Given the description of an element on the screen output the (x, y) to click on. 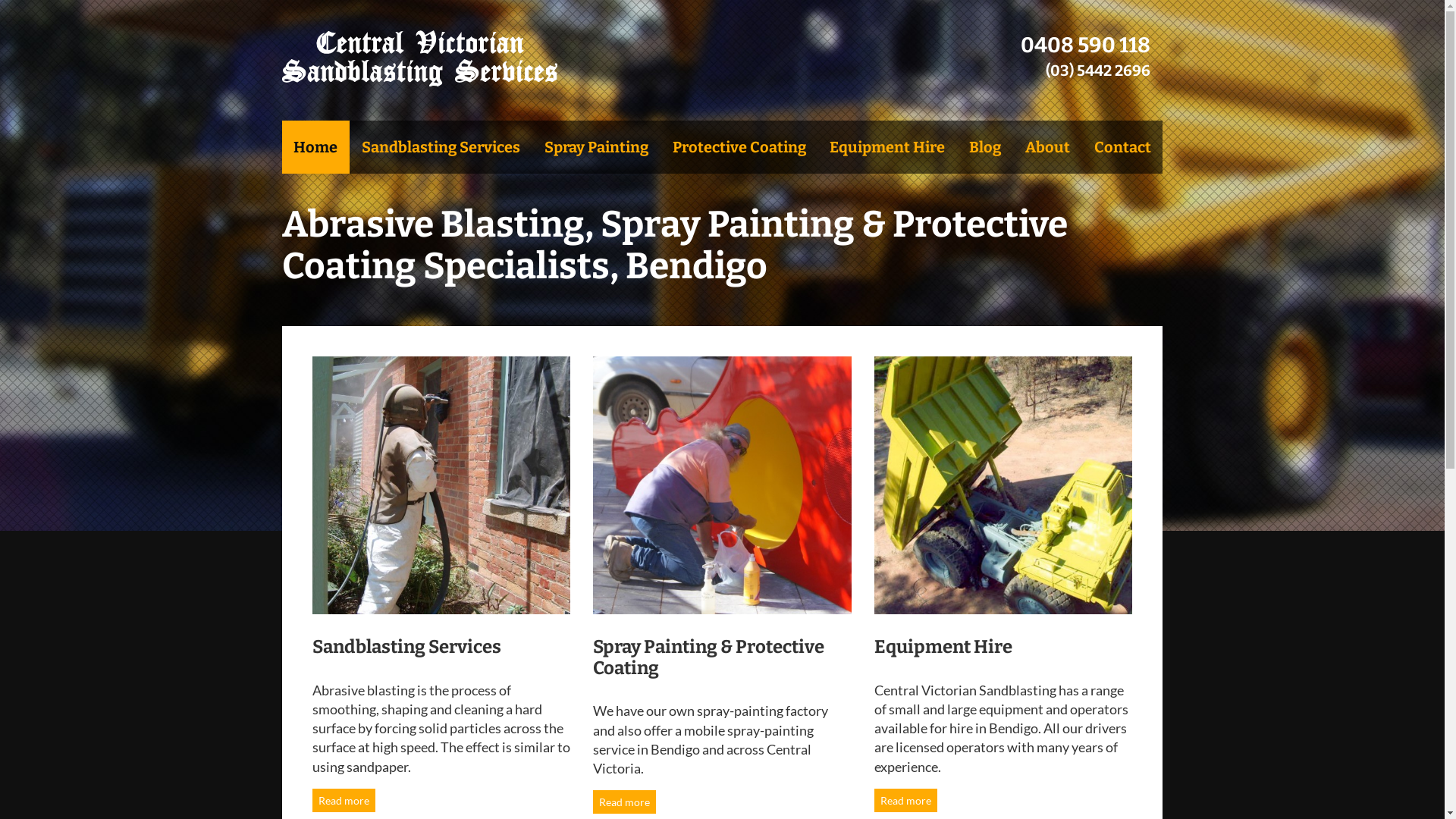
Protective Coating Element type: text (739, 146)
Contact Element type: text (1122, 146)
Blog Element type: text (985, 146)
Read more Element type: text (624, 801)
Read more Element type: text (905, 800)
Read more Element type: text (343, 800)
Equipment Hire Element type: text (887, 146)
Home Element type: text (316, 146)
Sandblasting Services Element type: text (440, 146)
About Element type: text (1047, 146)
Spray Painting Element type: text (596, 146)
